Given the description of an element on the screen output the (x, y) to click on. 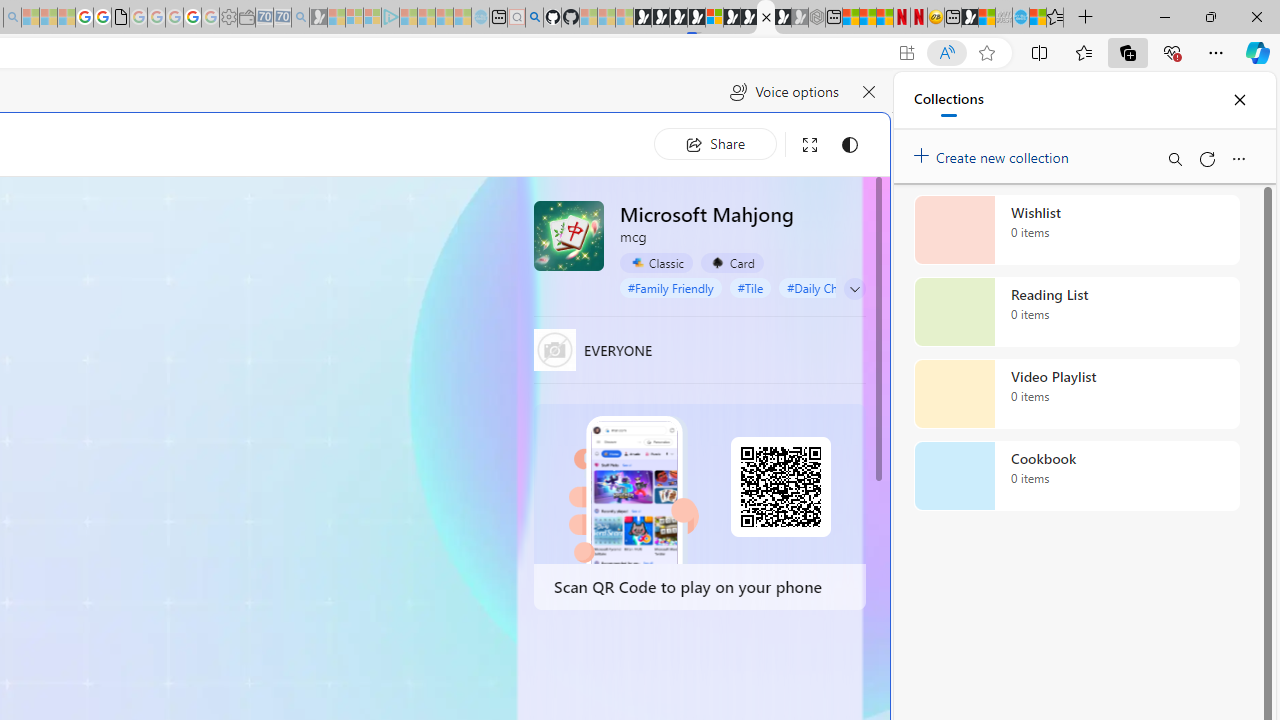
google_privacy_policy_zh-CN.pdf (120, 17)
Settings - Sleeping (228, 17)
MSN (969, 17)
Bing Real Estate - Home sales and rental listings - Sleeping (299, 17)
Search or enter web address (343, 191)
Favorites (1055, 17)
Play Free Online Games | Games from Microsoft Start (642, 17)
Favorites (1083, 52)
Navy Quest (1003, 17)
Microsoft Start - Sleeping (444, 17)
